Given the description of an element on the screen output the (x, y) to click on. 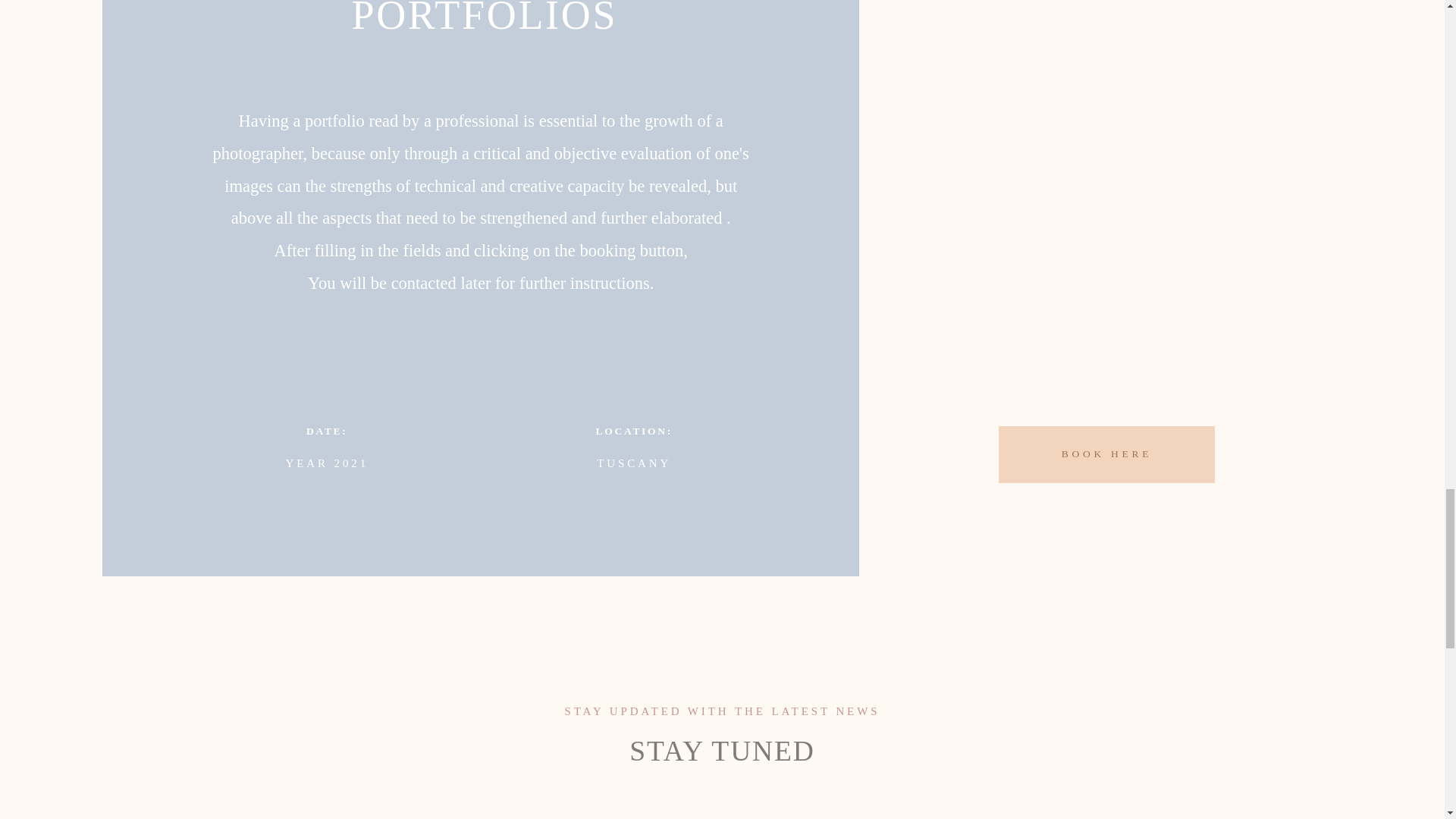
BOOK HERE (1106, 454)
